Given the description of an element on the screen output the (x, y) to click on. 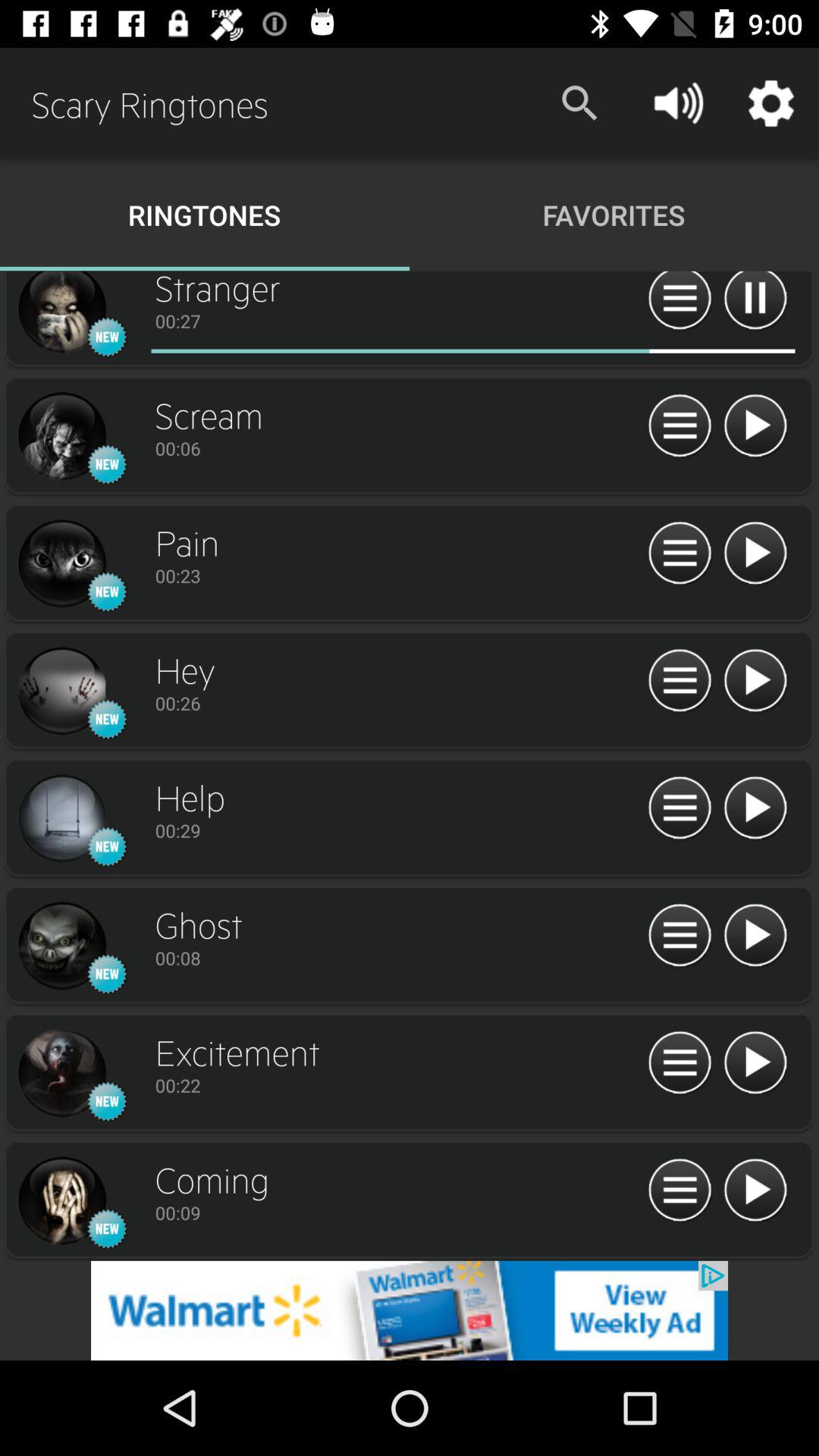
play song (755, 935)
